Given the description of an element on the screen output the (x, y) to click on. 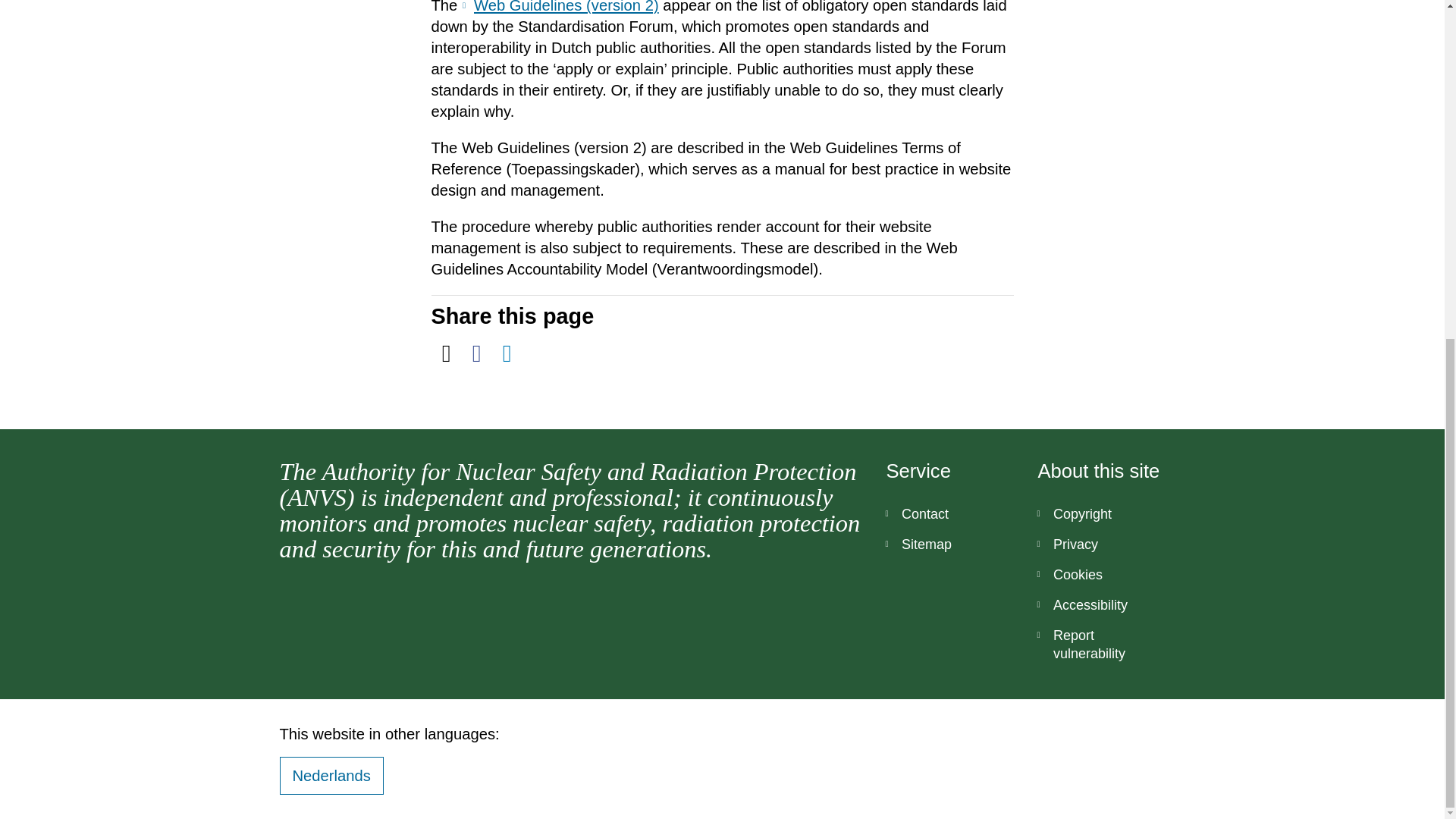
Contact (949, 513)
Share this page on your Facebook account (476, 353)
Sitemap (949, 544)
Privacy (1100, 544)
Report vulnerability (1100, 644)
Copyright (1100, 513)
Nederlands (330, 775)
Share this page on your LinkedIn account (506, 353)
Accessibility (1100, 604)
Cookies (1100, 574)
